Given the description of an element on the screen output the (x, y) to click on. 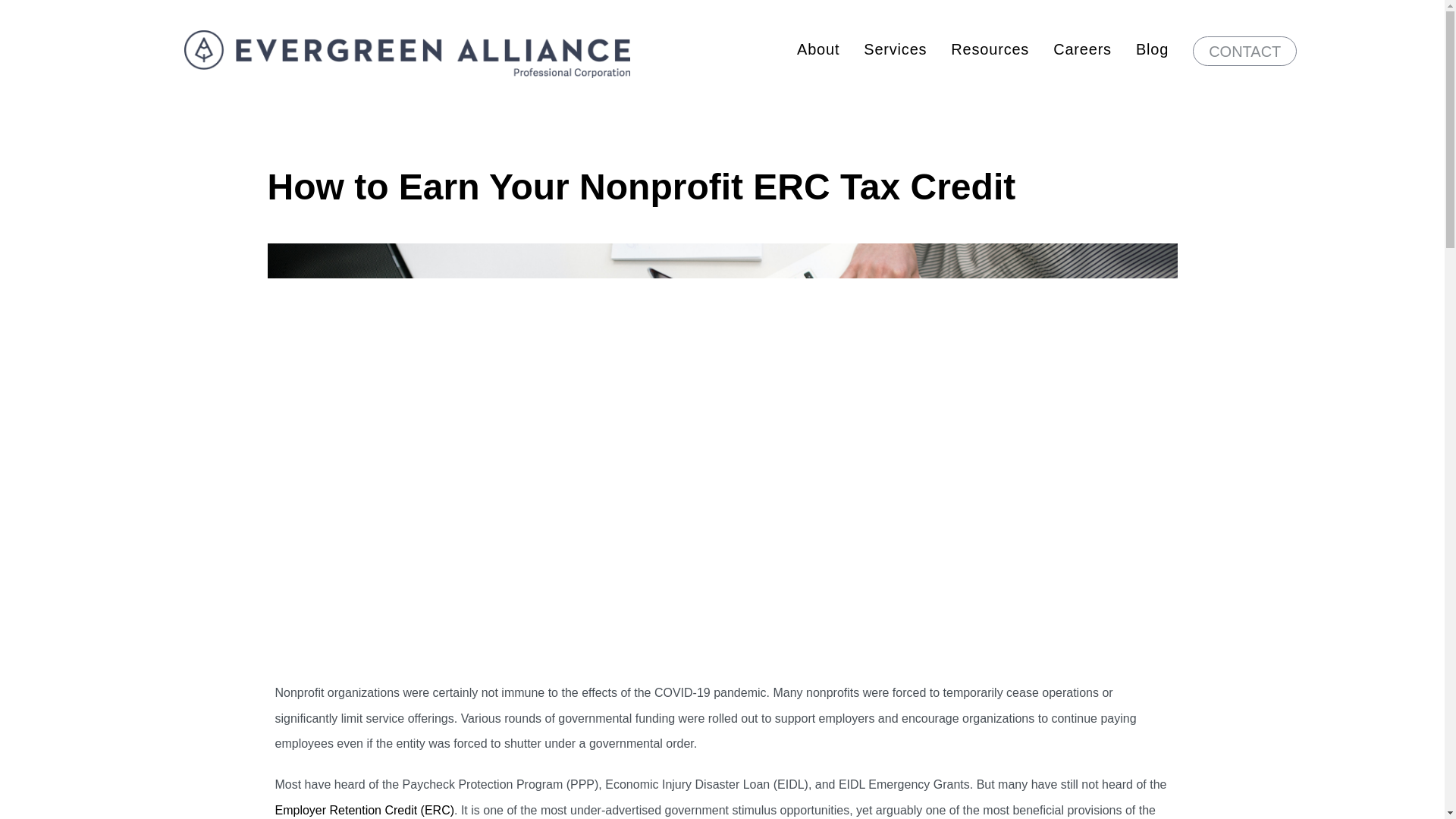
Blog (1152, 49)
Services (894, 49)
CONTACT (1244, 51)
About (818, 49)
Resources (989, 49)
Careers (1082, 49)
